Given the description of an element on the screen output the (x, y) to click on. 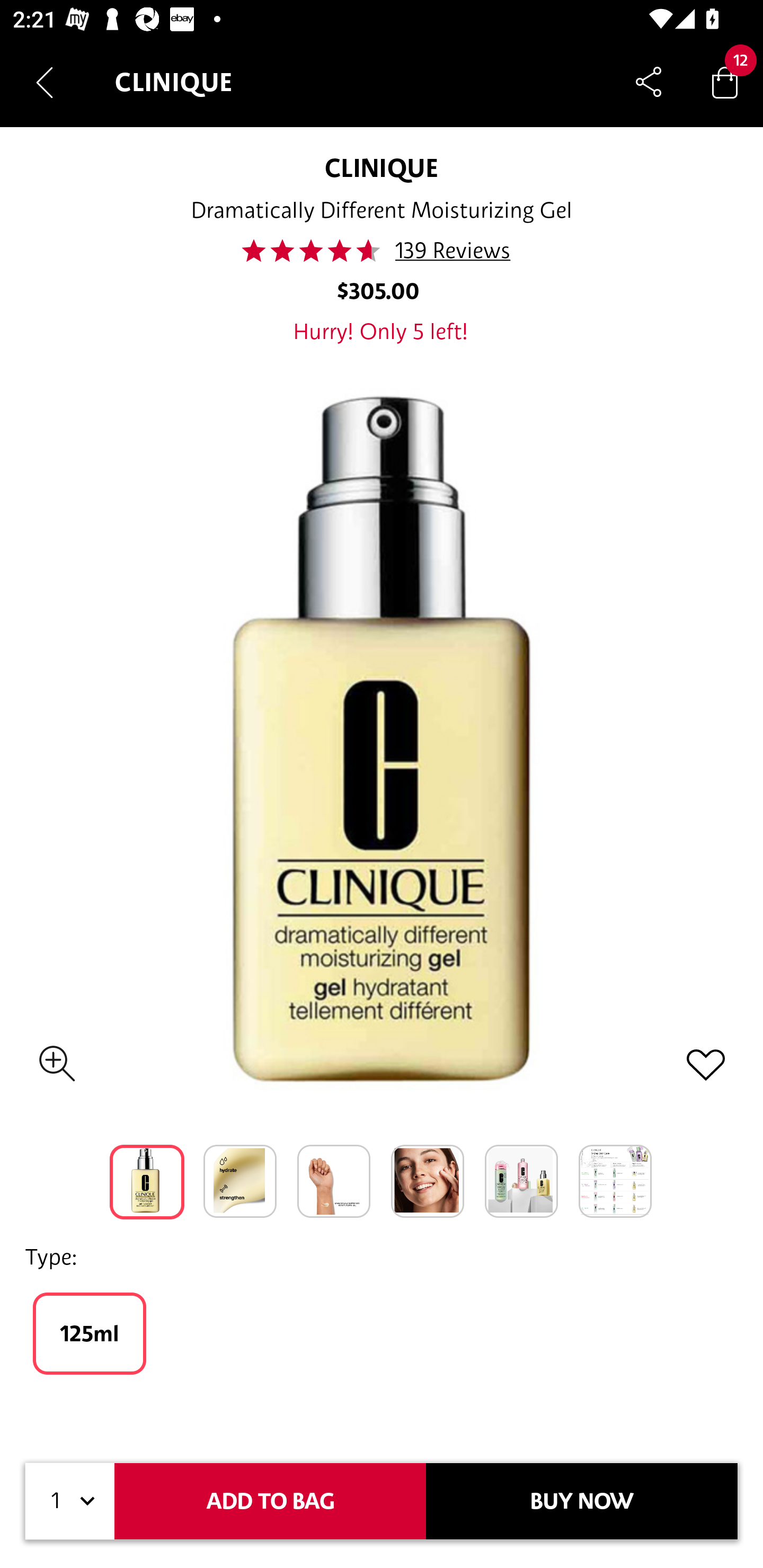
Navigate up (44, 82)
Share (648, 81)
Bag (724, 81)
CLINIQUE (381, 167)
46.0 139 Reviews (381, 250)
125ml (89, 1333)
1 (69, 1500)
ADD TO BAG (269, 1500)
BUY NOW (581, 1500)
